Given the description of an element on the screen output the (x, y) to click on. 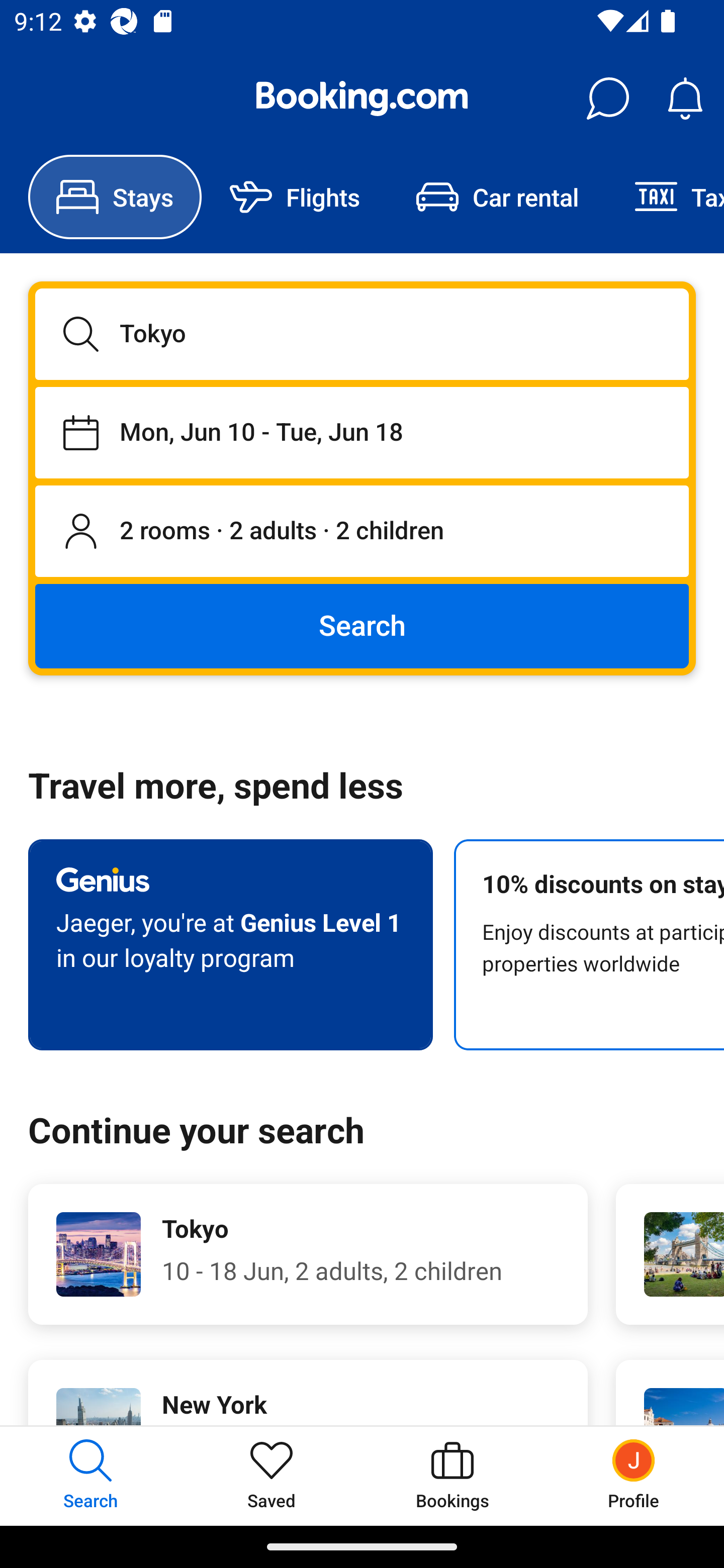
Messages (607, 98)
Notifications (685, 98)
Stays (114, 197)
Flights (294, 197)
Car rental (497, 197)
Taxi (665, 197)
Tokyo (361, 333)
Staying from Mon, Jun 10 until Tue, Jun 18 (361, 432)
2 rooms, 2 adults, 2 children (361, 531)
Search (361, 625)
Tokyo 10 - 18 Jun, 2 adults, 2 children (307, 1253)
Saved (271, 1475)
Bookings (452, 1475)
Profile (633, 1475)
